Given the description of an element on the screen output the (x, y) to click on. 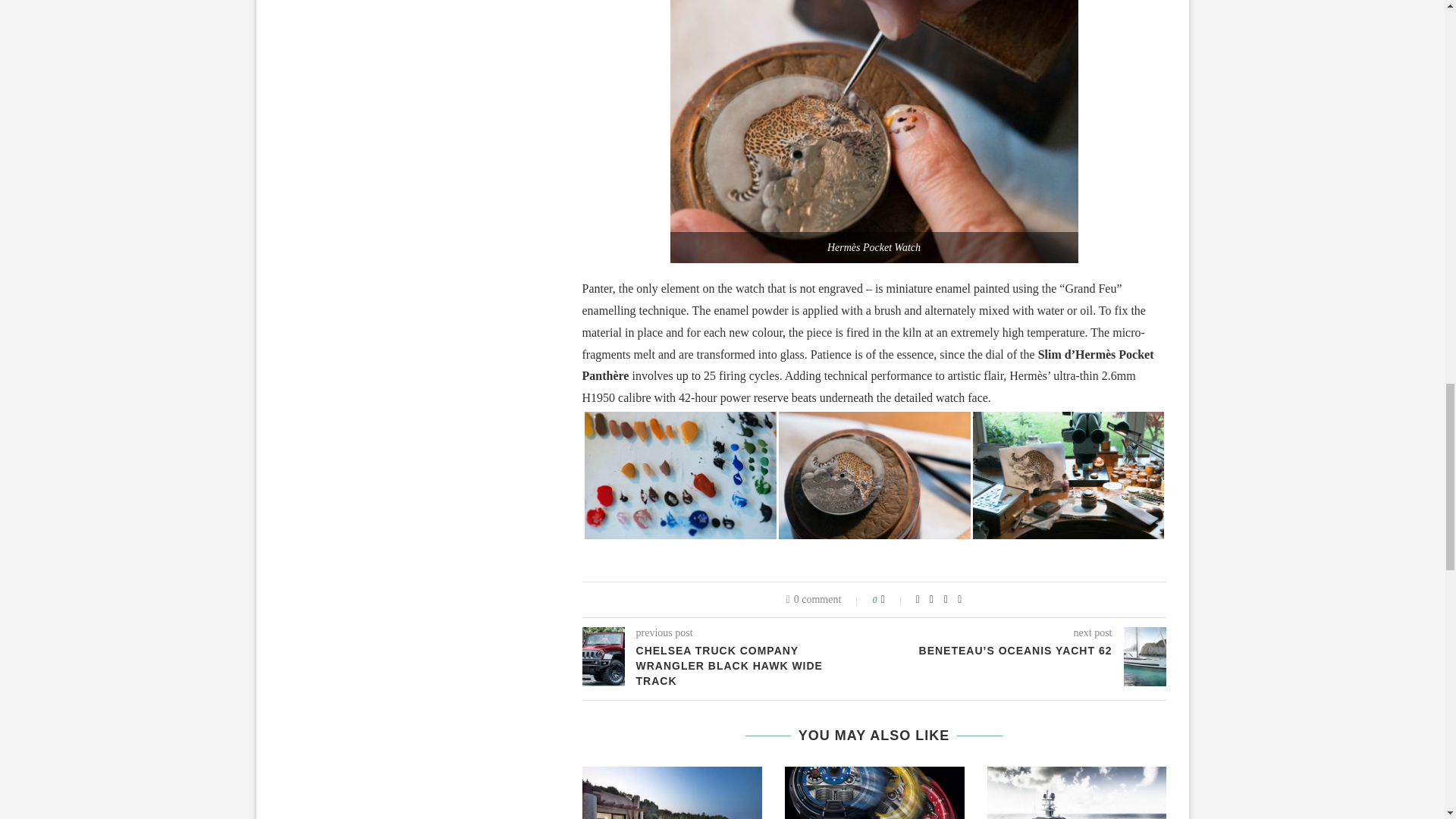
Like (892, 599)
